Given the description of an element on the screen output the (x, y) to click on. 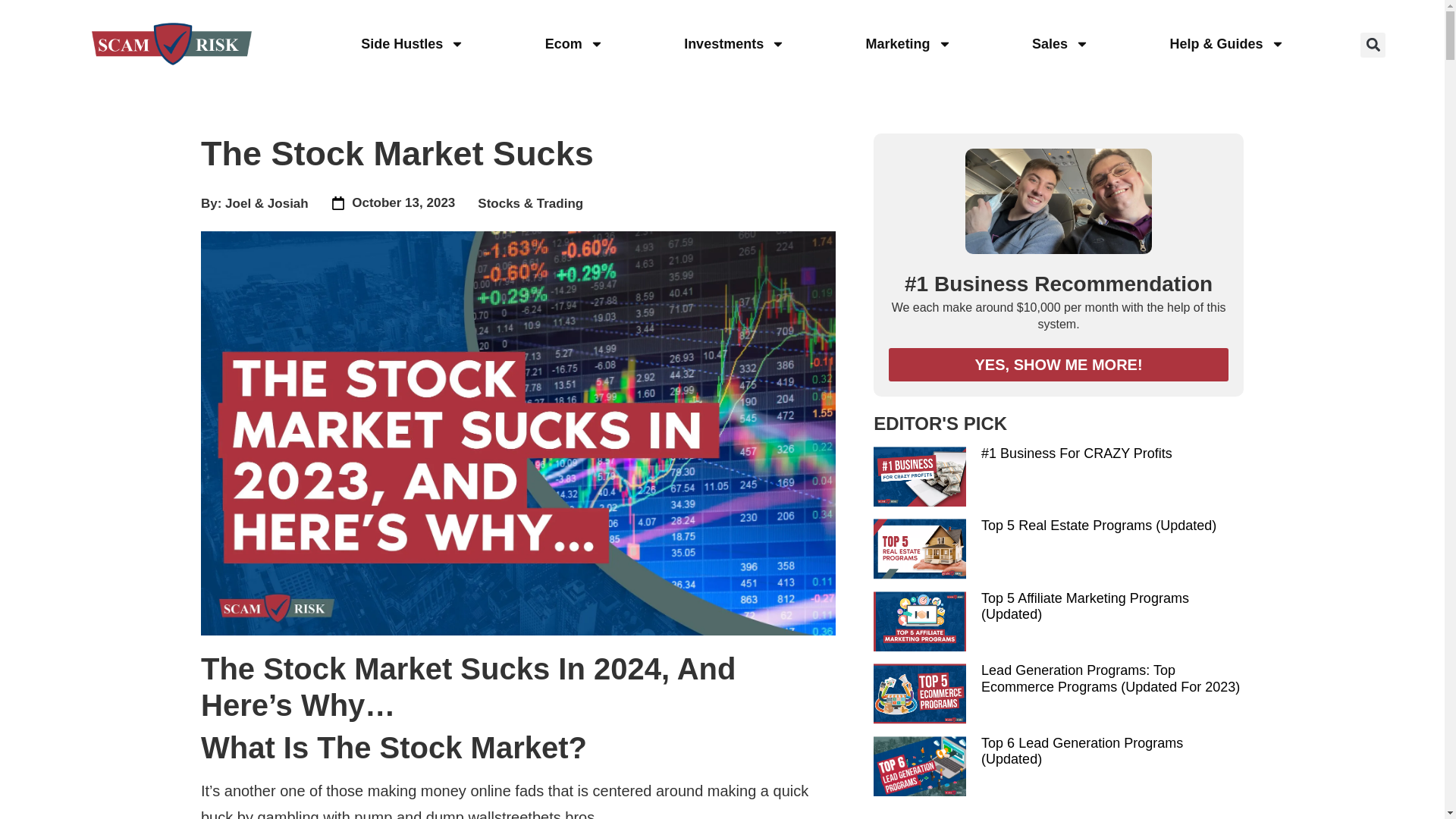
Sales (1060, 43)
Investments (734, 43)
Marketing (908, 43)
Ecom (573, 43)
Side Hustles (411, 43)
